Given the description of an element on the screen output the (x, y) to click on. 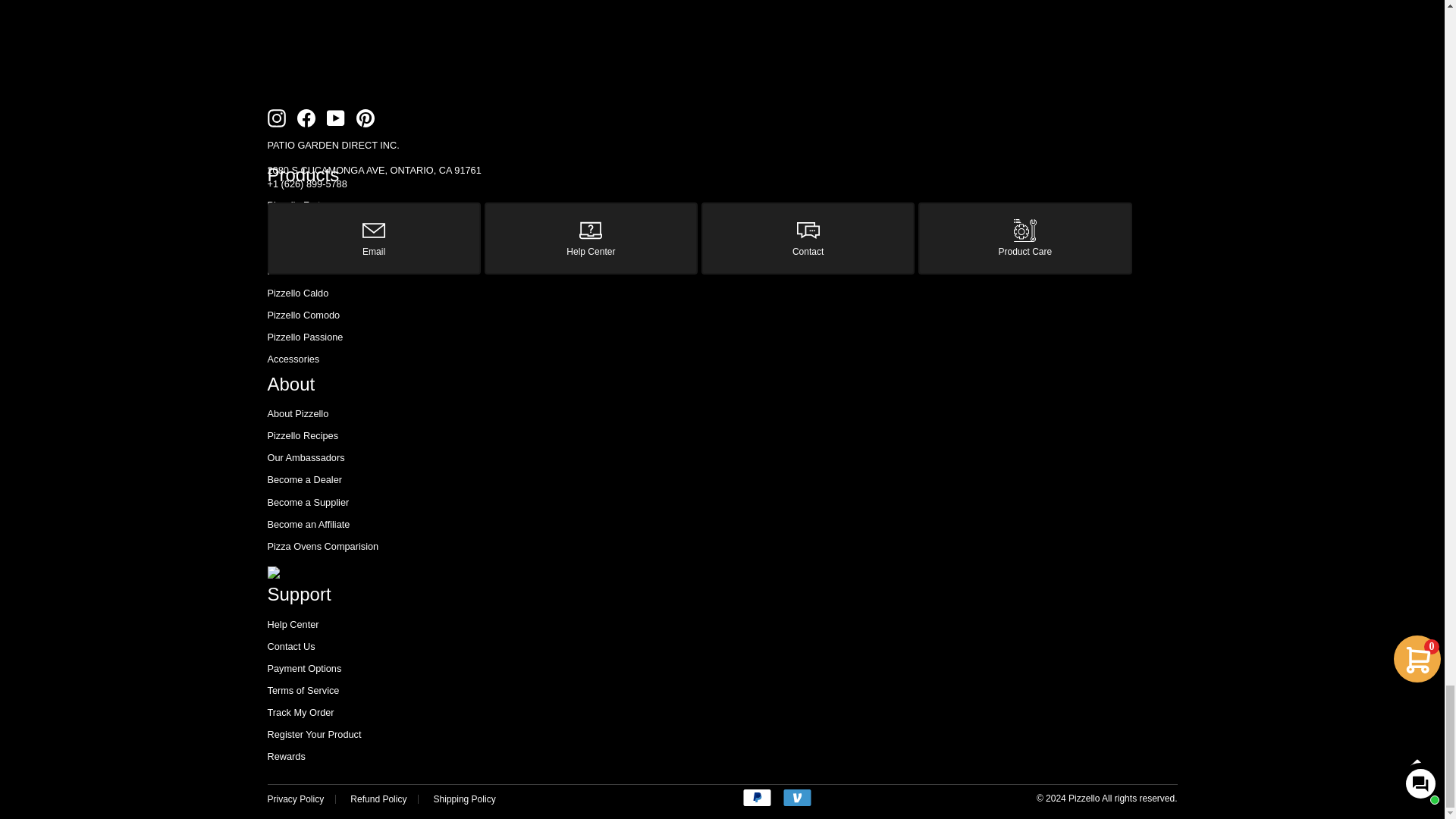
Pizzello on YouTube (334, 117)
Pizzello on Pinterest (365, 117)
PayPal (756, 797)
Pizzello on Instagram (275, 117)
Pizzello on Facebook (306, 117)
